Given the description of an element on the screen output the (x, y) to click on. 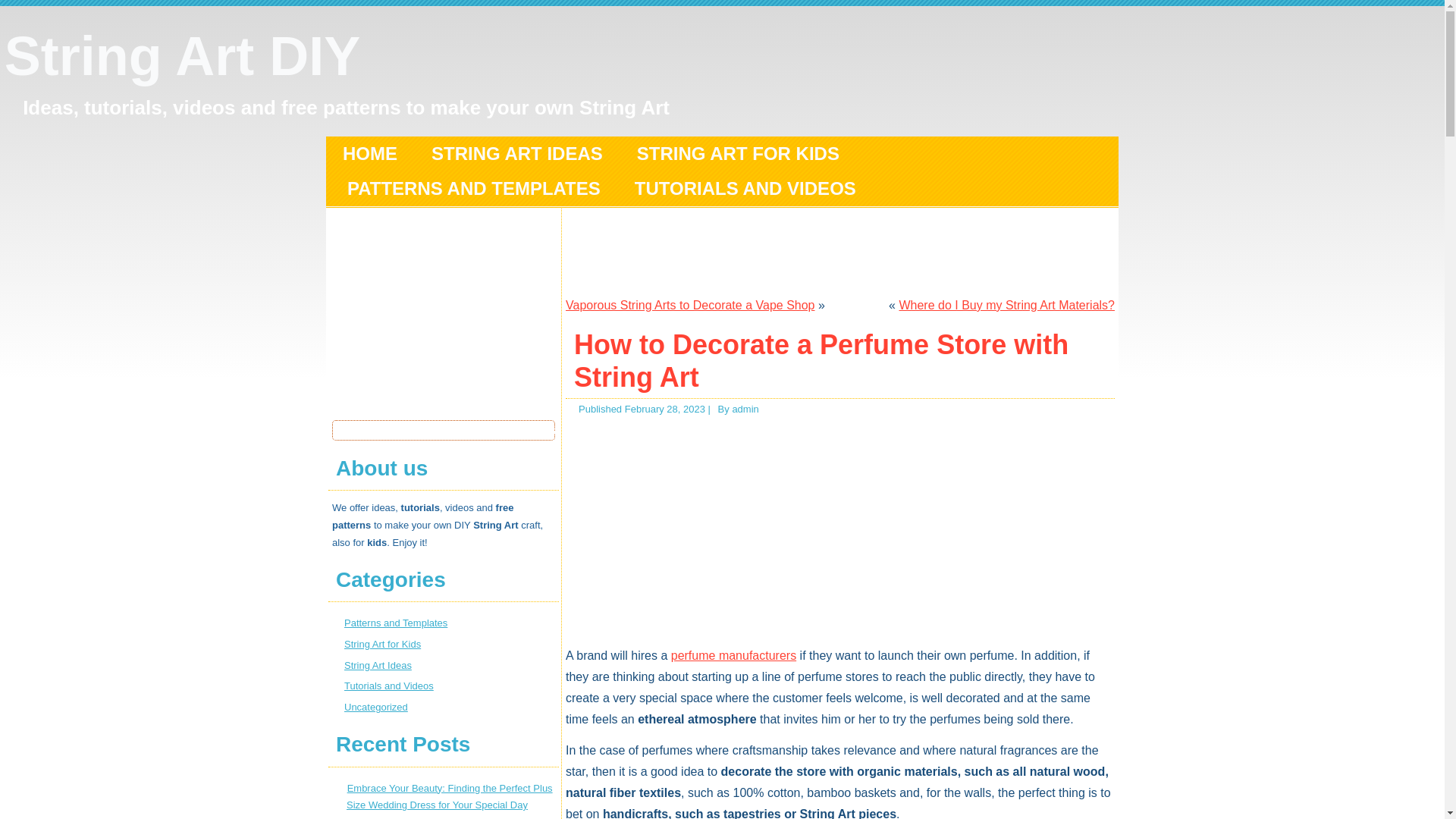
Where do I Buy my String Art Materials? (1006, 305)
STRING ART FOR KIDS (737, 153)
Patterns and Templates (394, 622)
Home (370, 153)
Vaporous String Arts to Decorate a Vape Shop (690, 305)
View all posts by admin (745, 408)
PATTERNS AND TEMPLATES (473, 188)
Where do I Buy my String Art Materials? (1006, 305)
Ideas to make your own String Art craft. (377, 665)
TUTORIALS AND VIDEOS (745, 188)
